Given the description of an element on the screen output the (x, y) to click on. 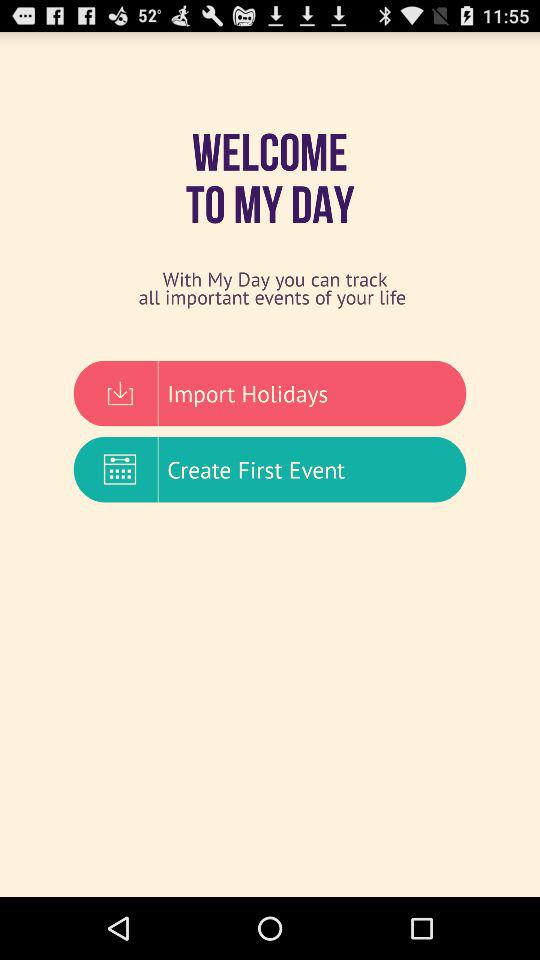
press the item below the with my day (269, 393)
